Given the description of an element on the screen output the (x, y) to click on. 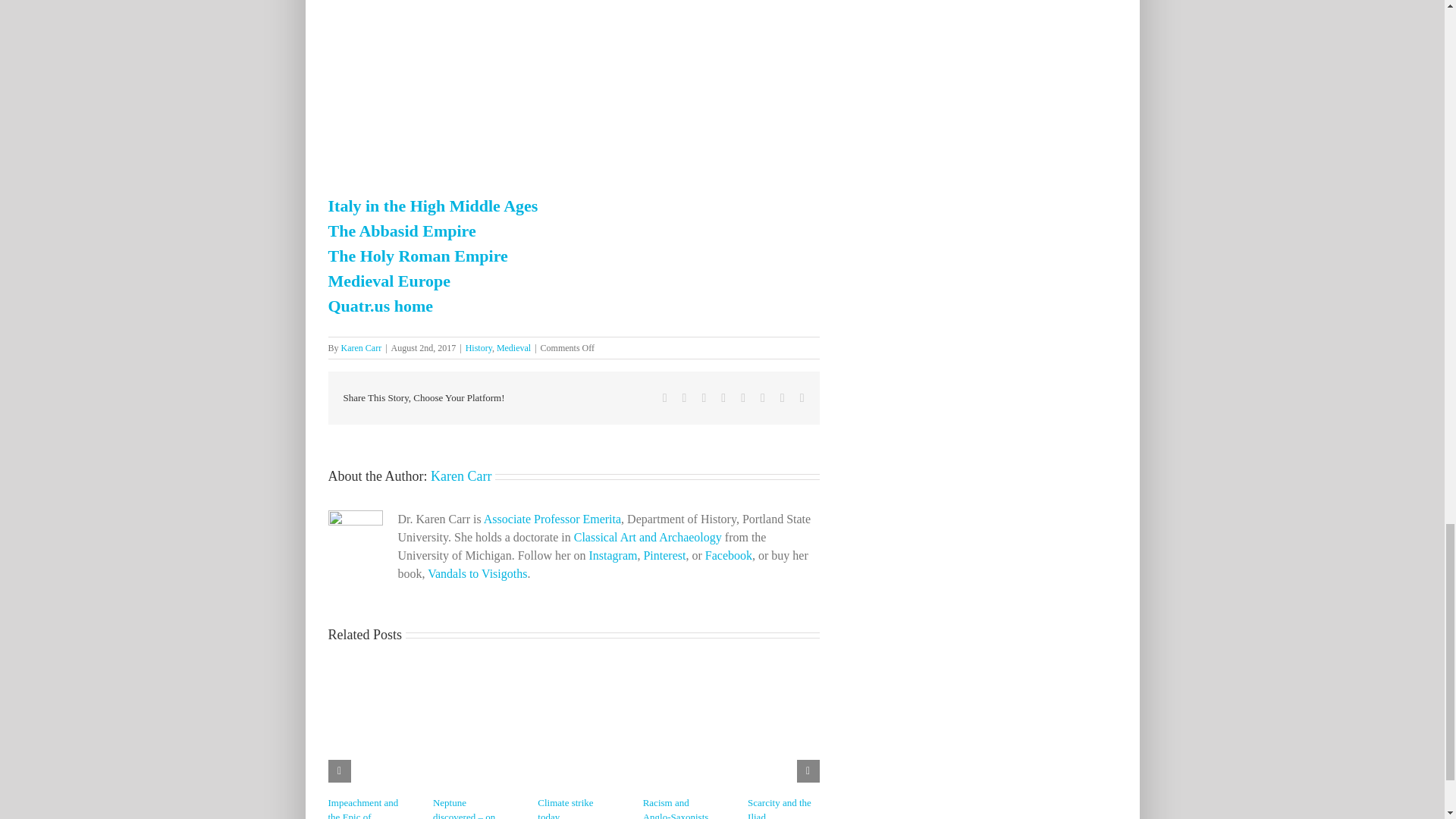
Impeachment and the Epic of Gilgamesh (362, 807)
Posts by Karen Carr (360, 347)
Scarcity and the Iliad (779, 807)
Racism and Anglo-Saxonists (676, 807)
Climate strike today (564, 807)
Posts by Karen Carr (461, 476)
